Given the description of an element on the screen output the (x, y) to click on. 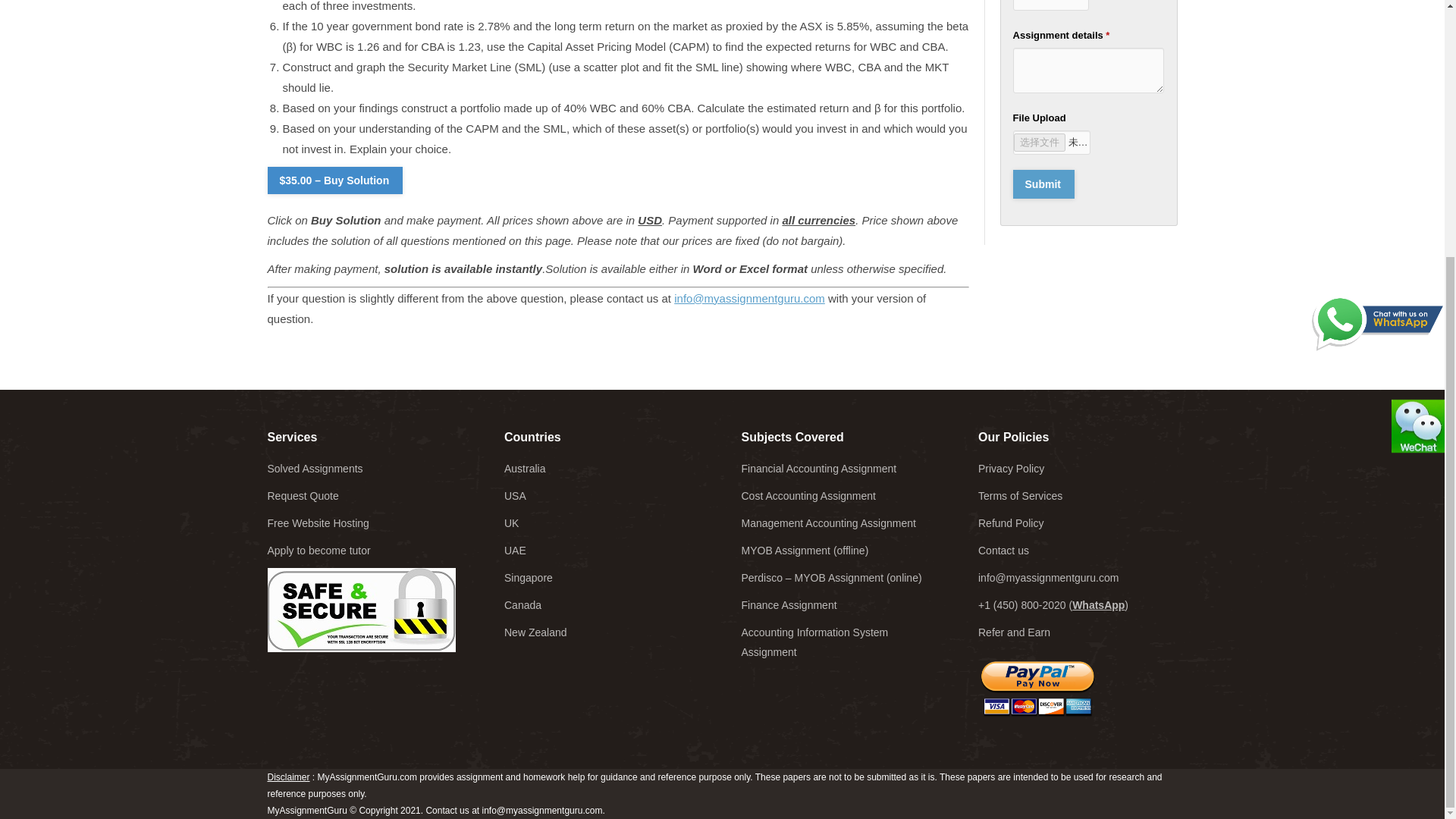
Request Quote (301, 495)
Terms of Services (1020, 495)
Submit (1043, 184)
Refund Policy (1010, 522)
Submit (1043, 184)
Refer and Earn (1013, 632)
Free Website Hosting (317, 522)
Privacy Policy (1010, 468)
Email Us (749, 297)
Solved Assignments (314, 468)
Contact us (1003, 550)
Apply to become tutor (317, 550)
